Given the description of an element on the screen output the (x, y) to click on. 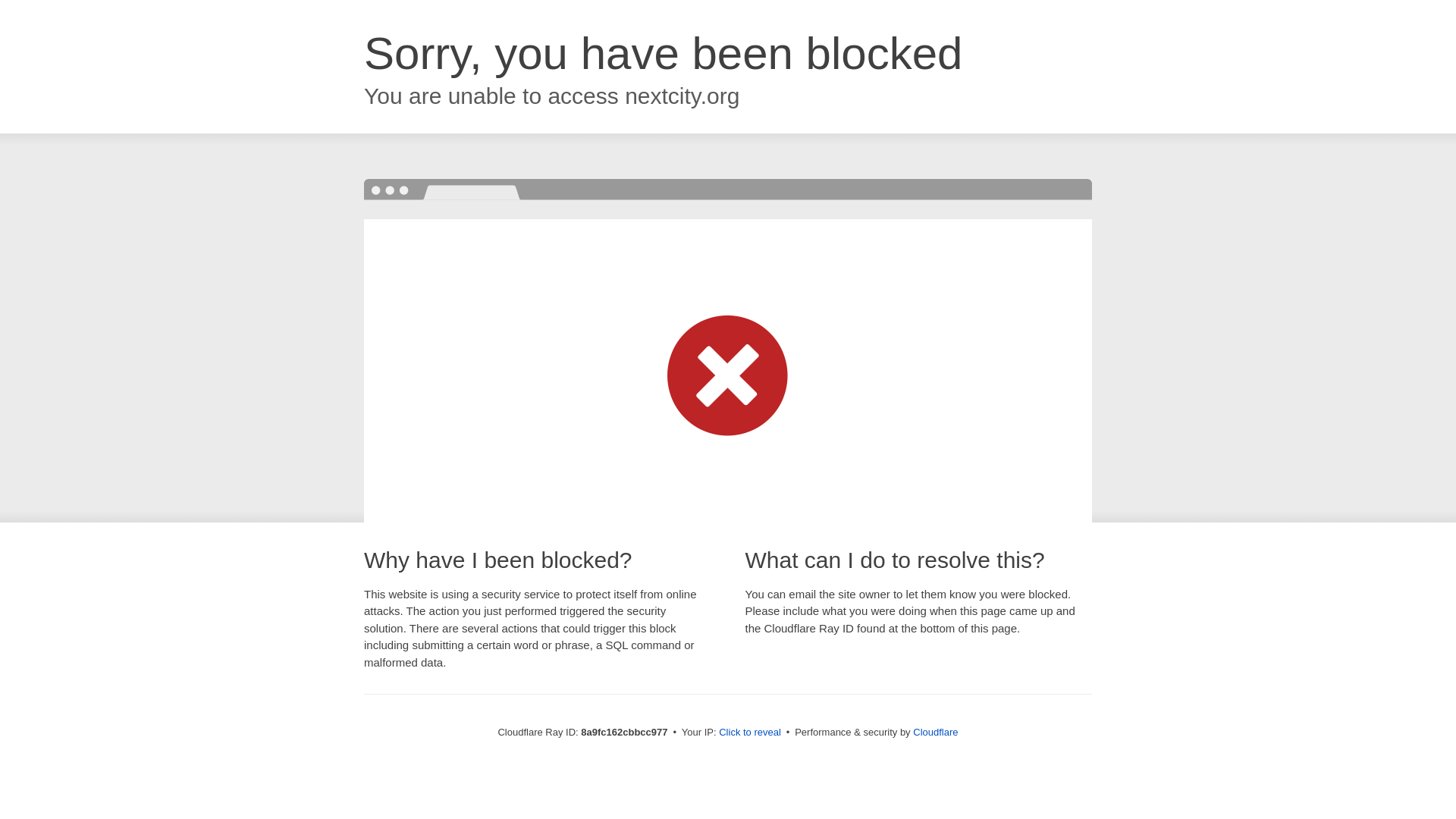
Cloudflare (935, 731)
Click to reveal (749, 732)
